Given the description of an element on the screen output the (x, y) to click on. 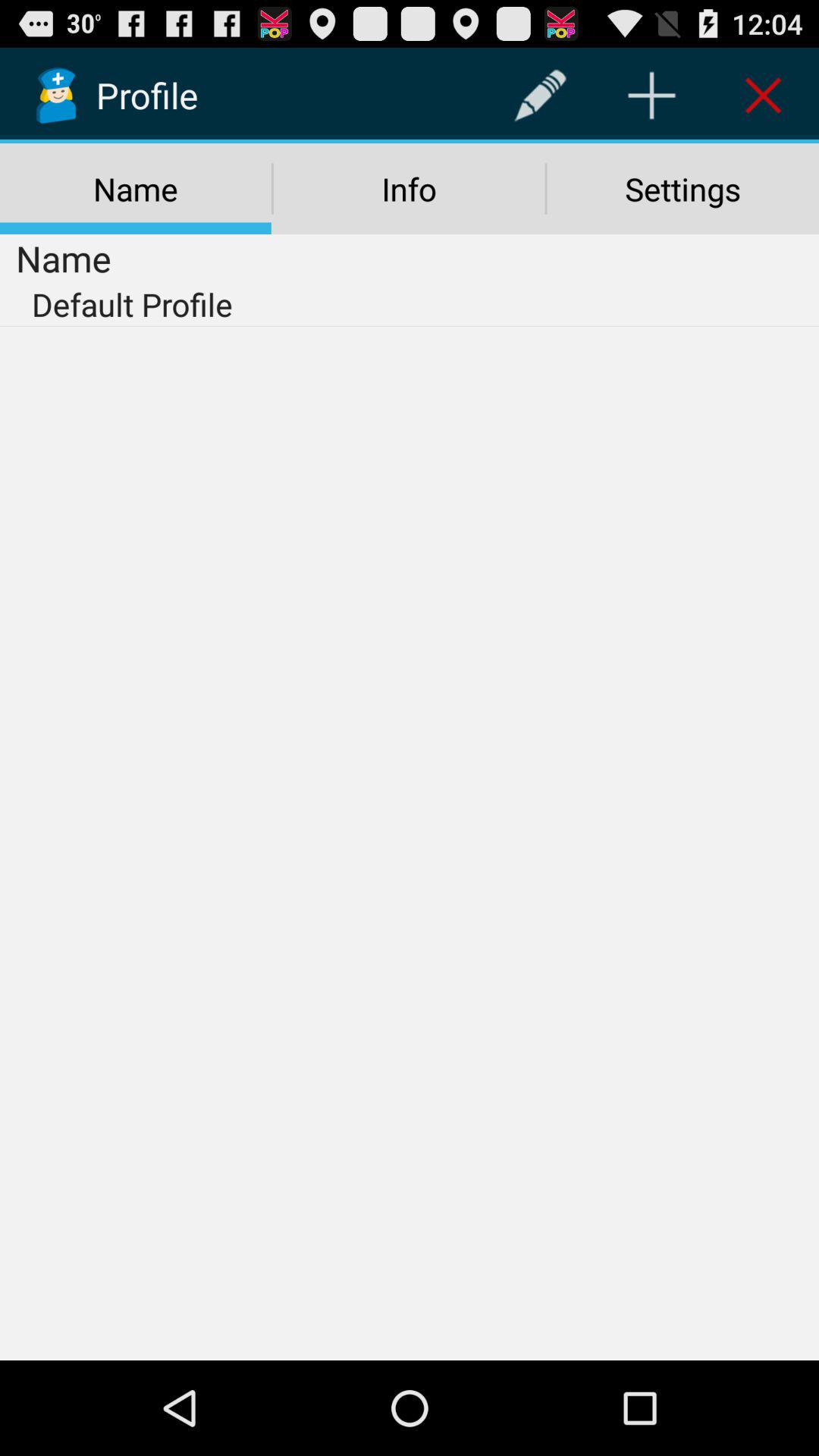
turn on item next to name (540, 95)
